Given the description of an element on the screen output the (x, y) to click on. 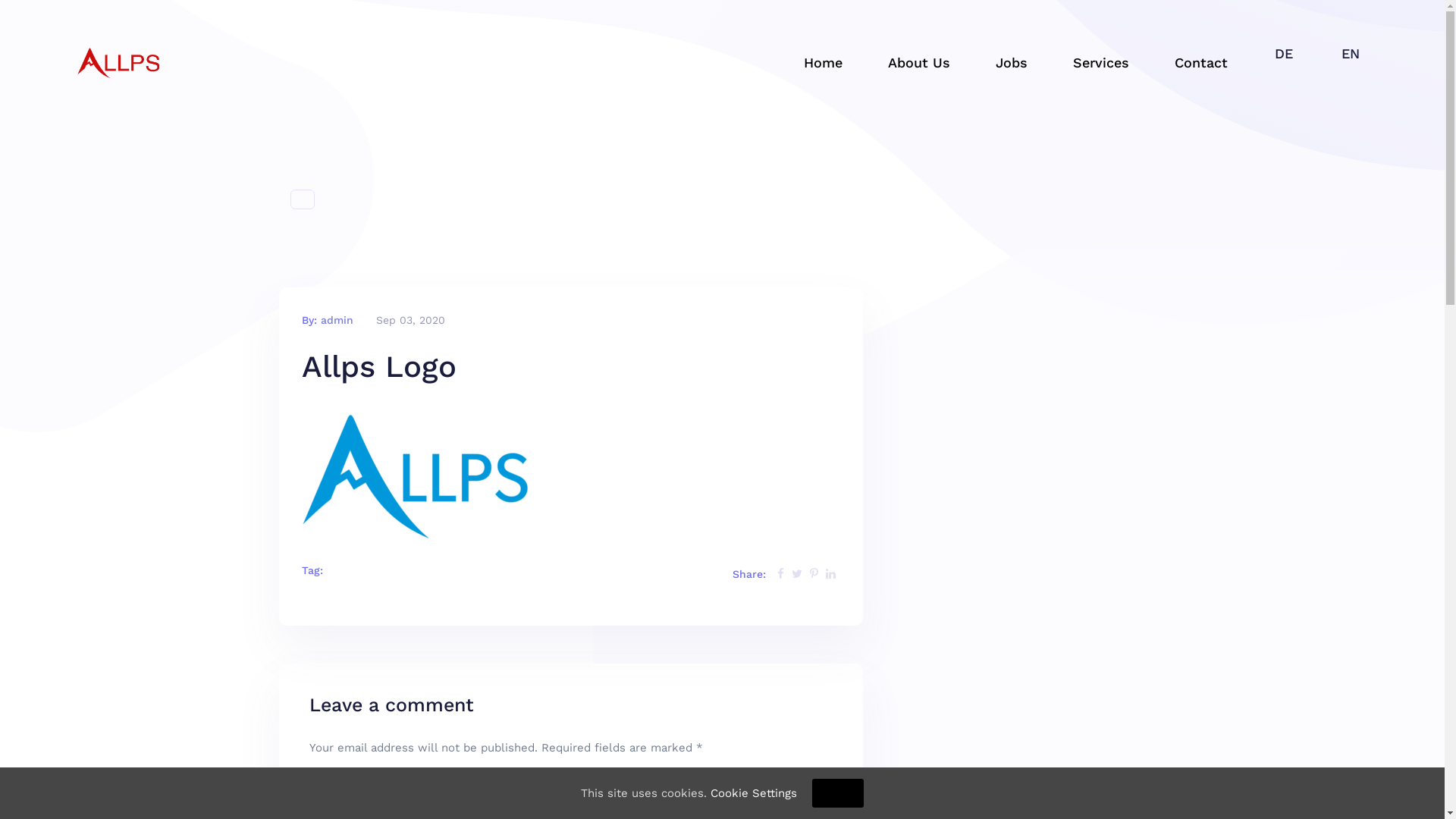
Services Element type: text (1100, 62)
Jobs Element type: text (1011, 62)
Home Element type: text (822, 62)
About Us Element type: text (918, 62)
Cookie Settings Element type: text (753, 793)
Contact Element type: text (1200, 62)
EN Element type: text (1350, 53)
Accept Element type: text (837, 792)
DE Element type: text (1283, 53)
admin Element type: text (336, 319)
